Given the description of an element on the screen output the (x, y) to click on. 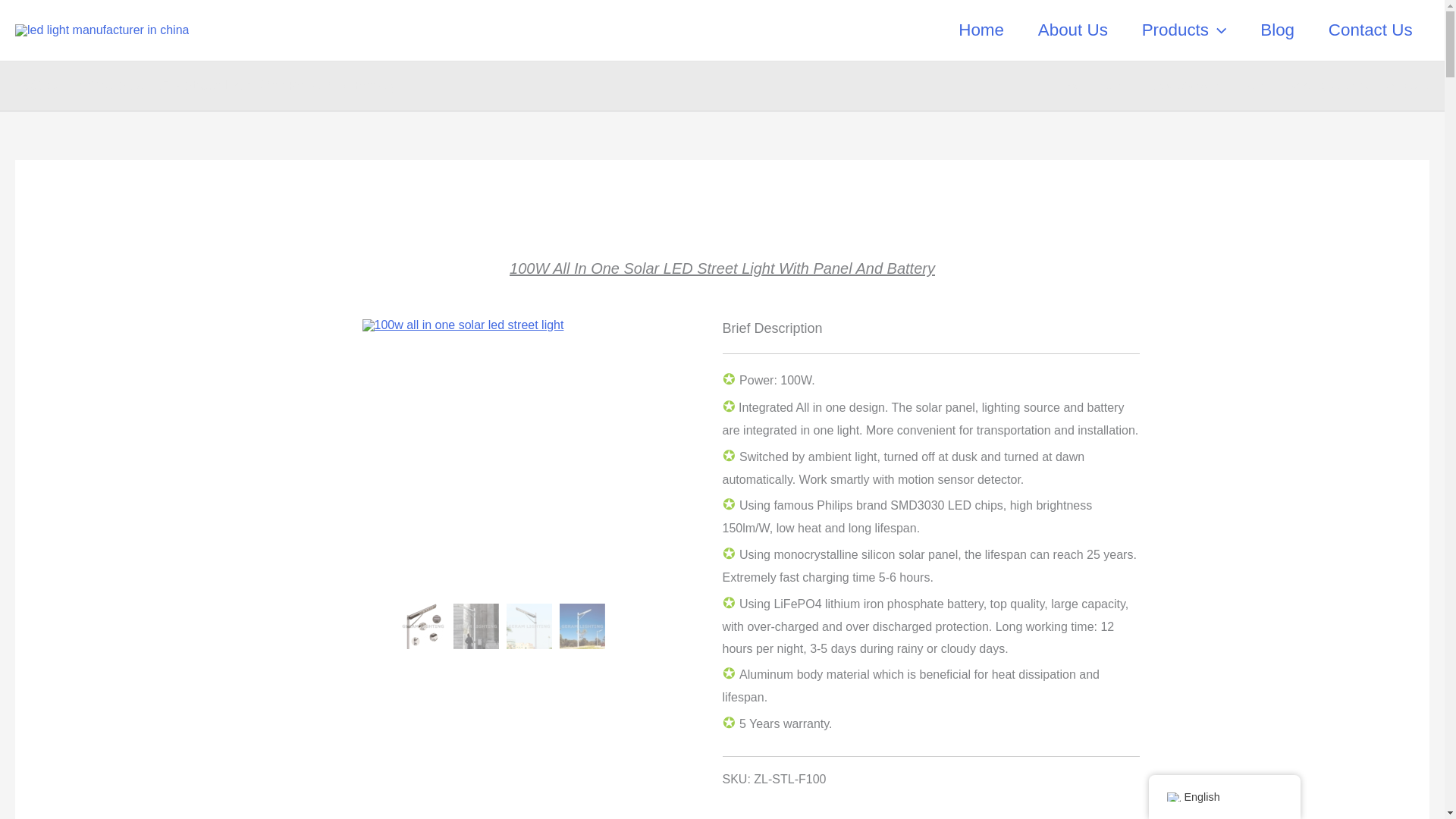
100w all in one solar led street light (422, 626)
Contact Us (1370, 30)
Products (1183, 30)
100w all in one solar led street light (502, 325)
Blog (1277, 30)
Home (982, 30)
100w all in one solar led street light (582, 626)
100w all in one solar led street light (528, 626)
100w all in one solar led street light (475, 626)
About Us (1072, 30)
